Given the description of an element on the screen output the (x, y) to click on. 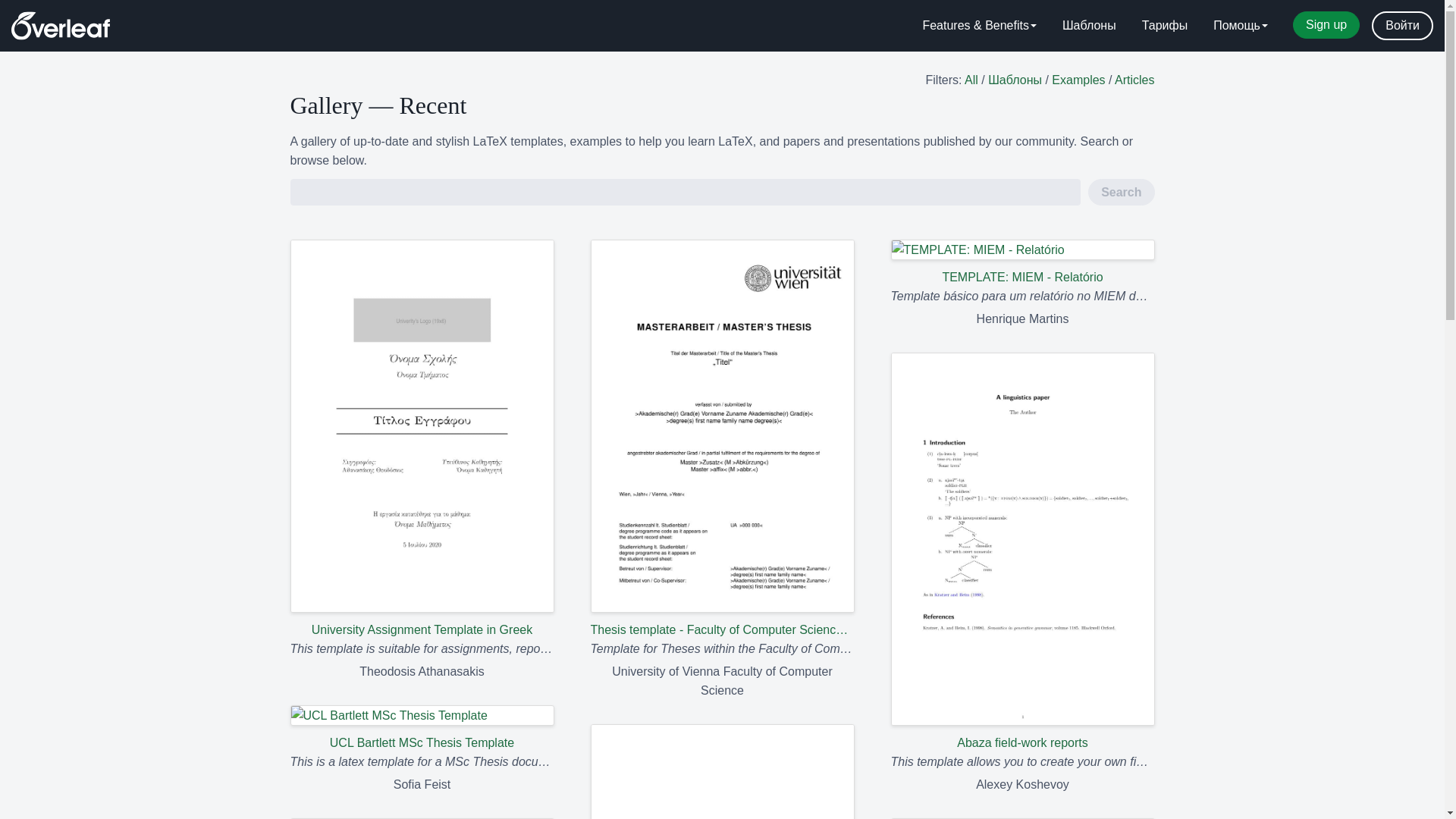
University Assignment Template in Greek (421, 438)
All (970, 79)
Search (1120, 192)
Abaza field-work reports (1021, 551)
Examples (1078, 79)
Articles (1134, 79)
UCL Bartlett MSc Thesis Template (421, 728)
FCUP thesis layout (721, 771)
Sign up (1325, 24)
